Given the description of an element on the screen output the (x, y) to click on. 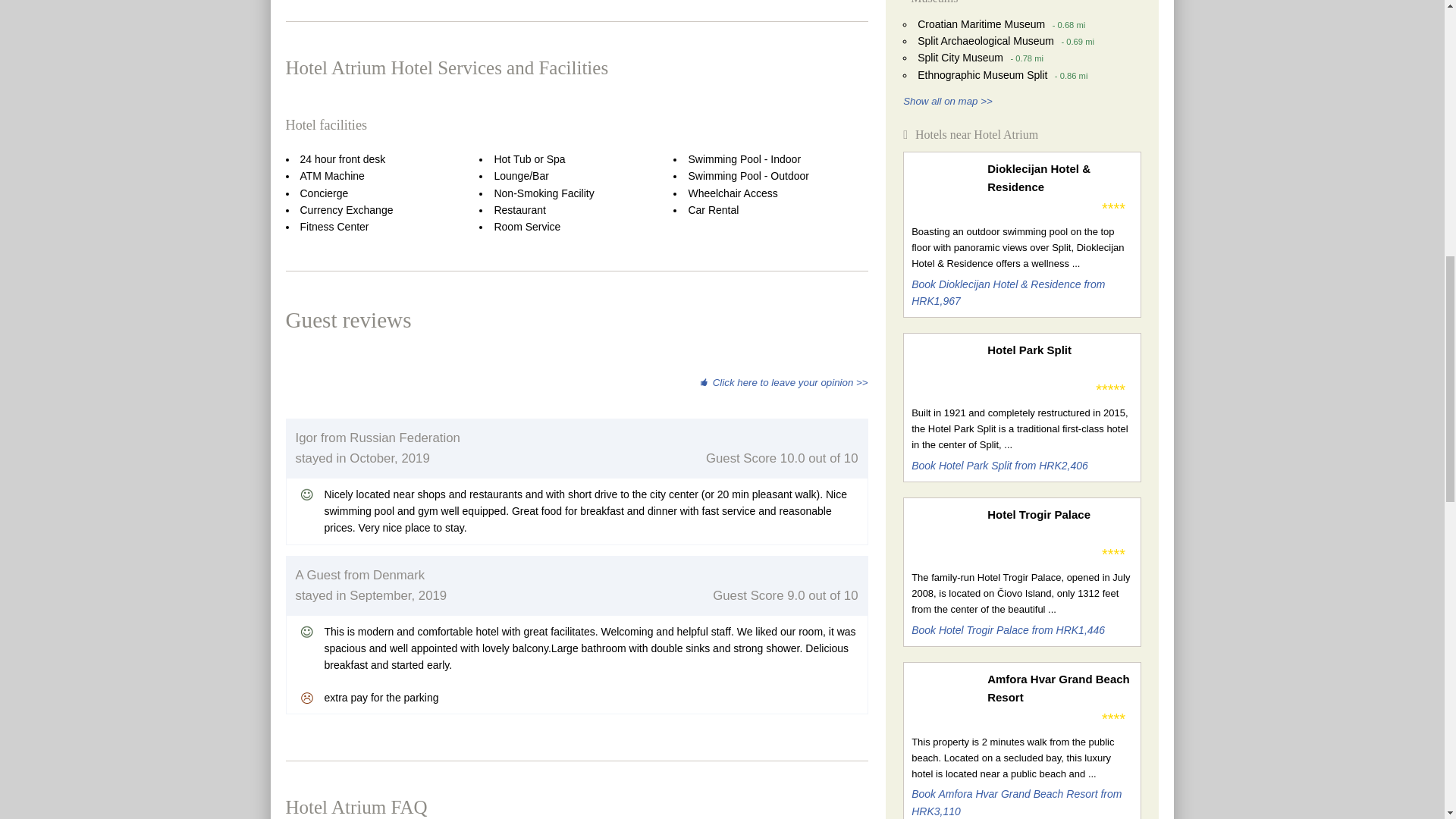
Hotel Park Split (1059, 350)
Book Amfora Hvar Grand Beach Resort from HRK3,110 (1016, 801)
Amfora Hvar Grand Beach Resort (1059, 688)
Book Hotel Park Split from HRK2,406 (999, 465)
Hotel Trogir Palace (1059, 515)
Book Hotel Trogir Palace from HRK1,446 (1008, 630)
